Given the description of an element on the screen output the (x, y) to click on. 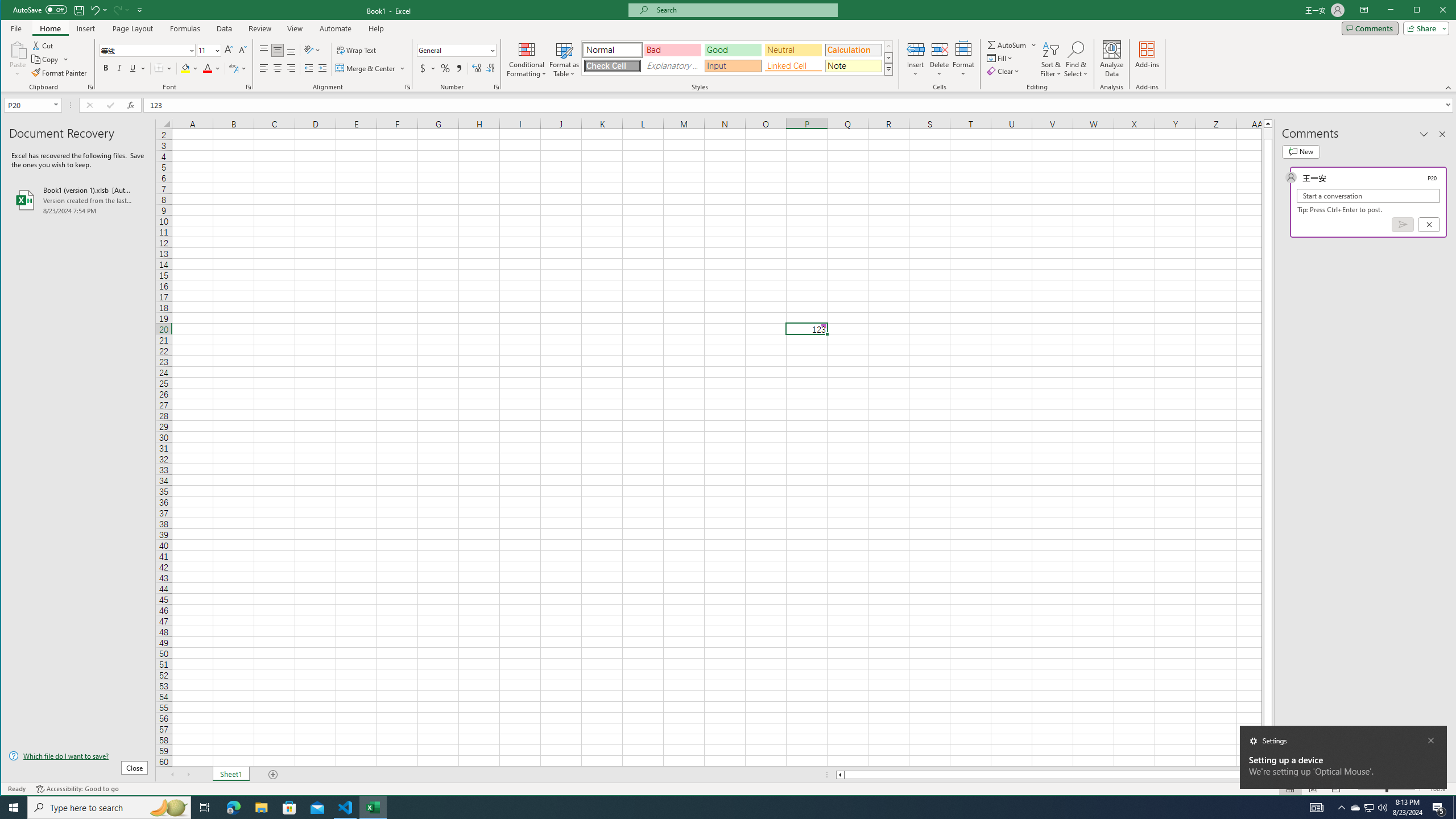
Table (100, 59)
Column left (839, 774)
File Tab (16, 27)
PivotChart (443, 59)
Show desktop (1454, 807)
Q2790: 100% (1382, 807)
Link (659, 48)
Symbol... (912, 59)
AutomationID: 4105 (1316, 807)
Collapse the Ribbon (1448, 87)
Review (259, 28)
